Given the description of an element on the screen output the (x, y) to click on. 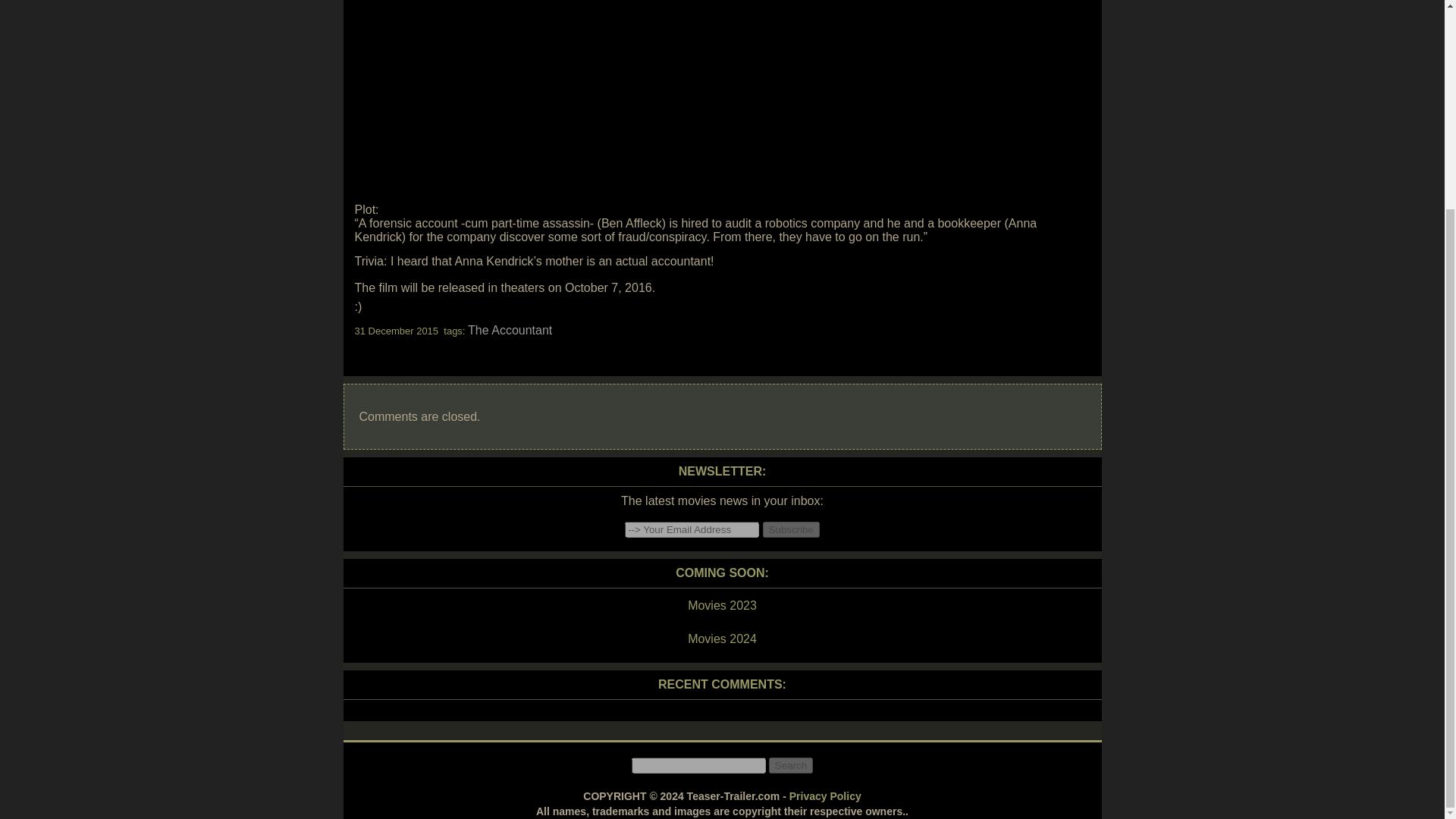
Movies 2024 (721, 639)
Movies 2023 (721, 605)
Subscribe (790, 529)
Search (790, 765)
Search (790, 765)
Privacy Policy (825, 796)
Subscribe (790, 529)
The Accountant (509, 329)
